Given the description of an element on the screen output the (x, y) to click on. 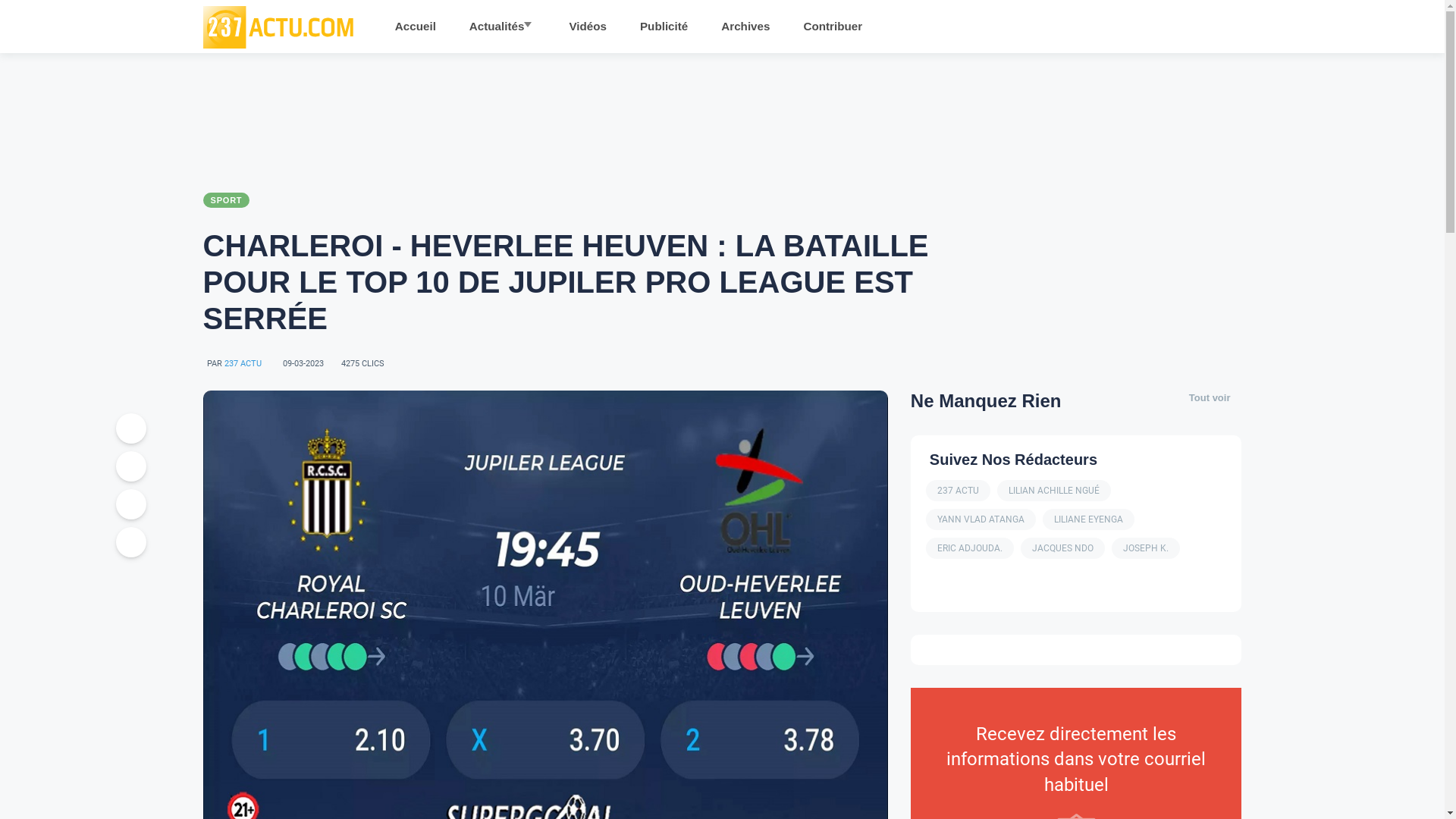
Archives Element type: text (745, 32)
Contribuer Element type: text (832, 32)
JOSEPH K. Element type: text (1145, 547)
237 ACTU Element type: text (242, 363)
SPORT Element type: text (226, 199)
Tout voir Element type: text (1209, 397)
ERIC ADJOUDA. Element type: text (969, 547)
Accueil Element type: text (415, 32)
237 ACTU Element type: text (957, 490)
YANN VLAD ATANGA Element type: text (980, 519)
JACQUES NDO Element type: text (1062, 547)
LILIANE EYENGA Element type: text (1088, 519)
